Given the description of an element on the screen output the (x, y) to click on. 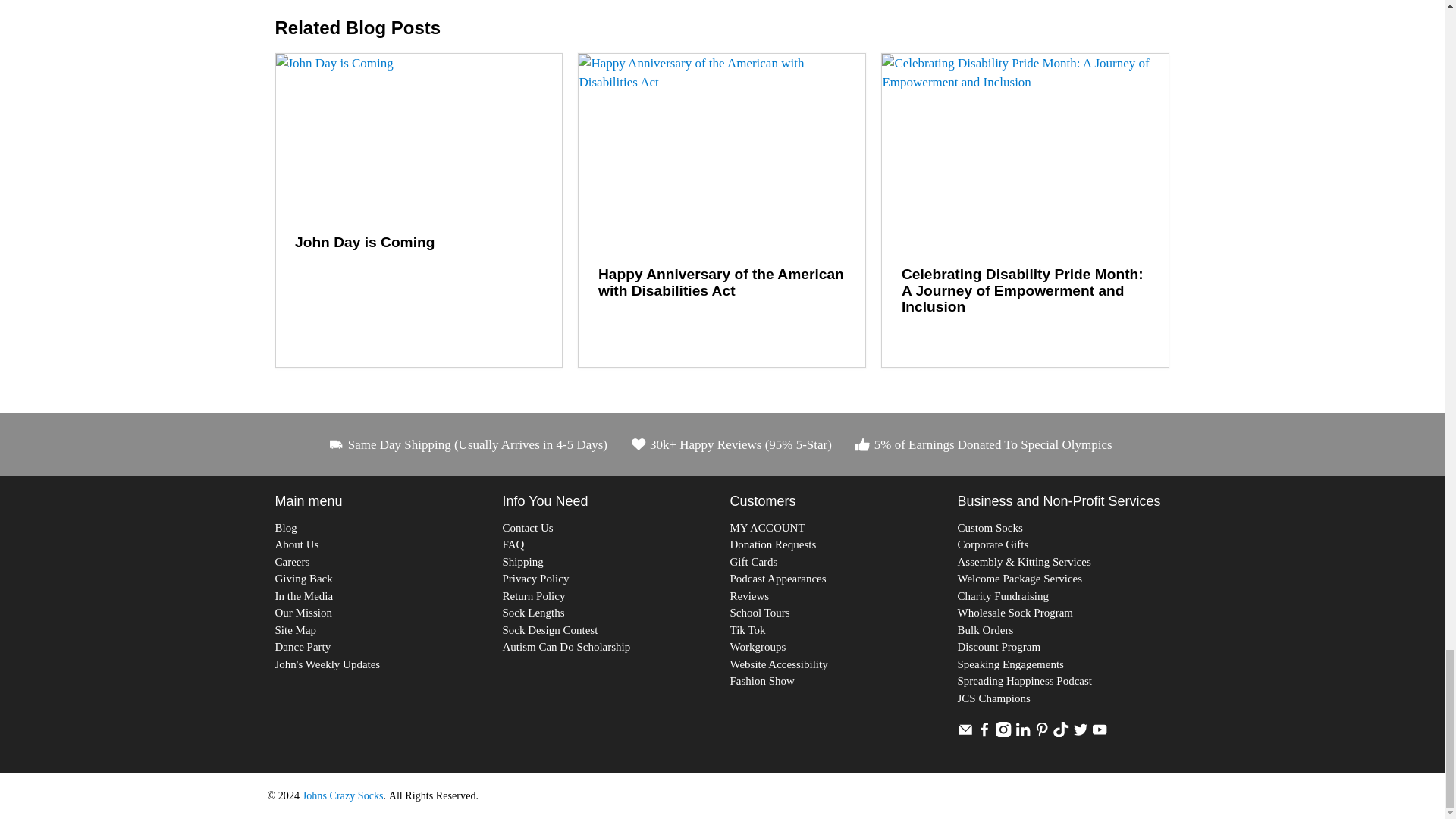
Johns Crazy Socks on TikTok (1060, 733)
John Day is Coming (419, 134)
John Day is Coming (364, 242)
Johns Crazy Socks on LinkedIn (1022, 733)
Johns Crazy Socks on Instagram (1002, 733)
Happy Anniversary of the American with Disabilities Act (721, 150)
Johns Crazy Socks on Facebook (983, 733)
Johns Crazy Socks on Twitter (1080, 733)
Email Johns Crazy Socks (964, 733)
